Given the description of an element on the screen output the (x, y) to click on. 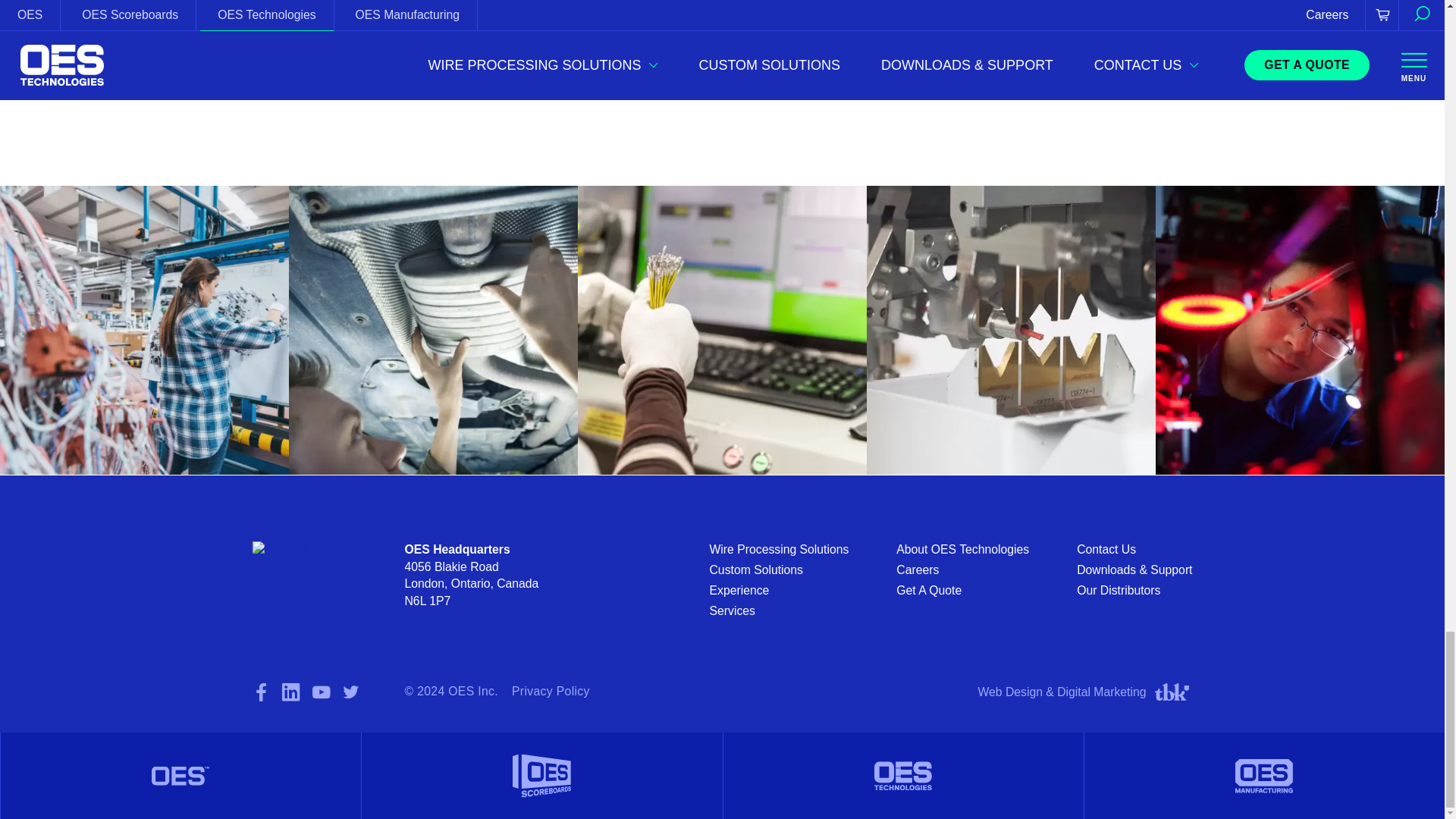
tbk (1172, 692)
Home (296, 554)
Visit us on YouTube - This link will open in a new tab (321, 692)
Visit us on Twitter - This link will open in a new tab (350, 692)
Visit us on LinkedIn - This link will open in a new tab (290, 692)
Visit us on Facebook - This link will open in a new tab (260, 692)
